Given the description of an element on the screen output the (x, y) to click on. 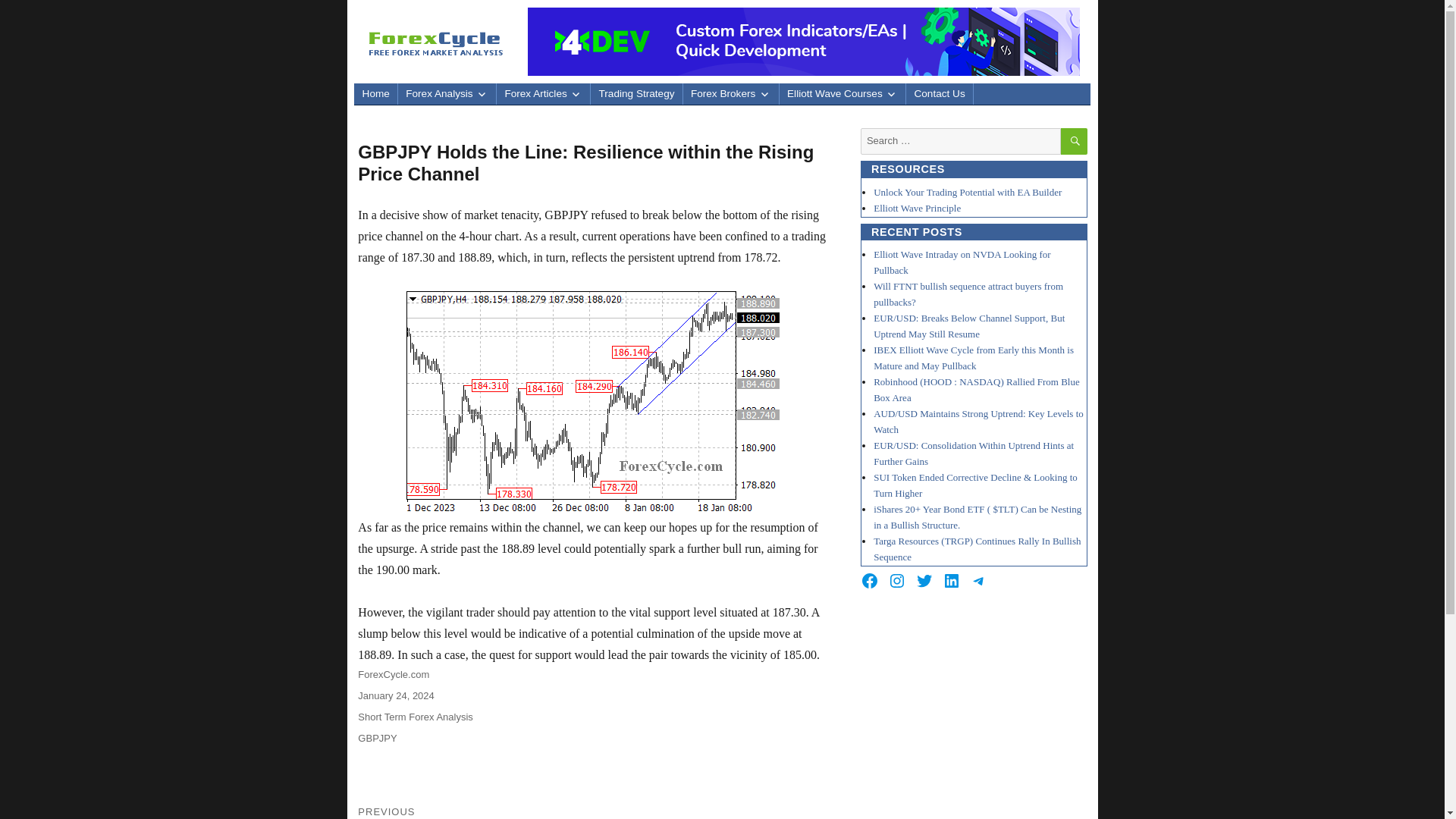
Elliott Wave Courses (841, 93)
Trading Strategy (636, 93)
Forex Brokers (730, 93)
Forex Articles (542, 93)
ForexCycle.com (393, 674)
Forex Analysis (446, 93)
Home (375, 93)
Contact Us (938, 93)
